Given the description of an element on the screen output the (x, y) to click on. 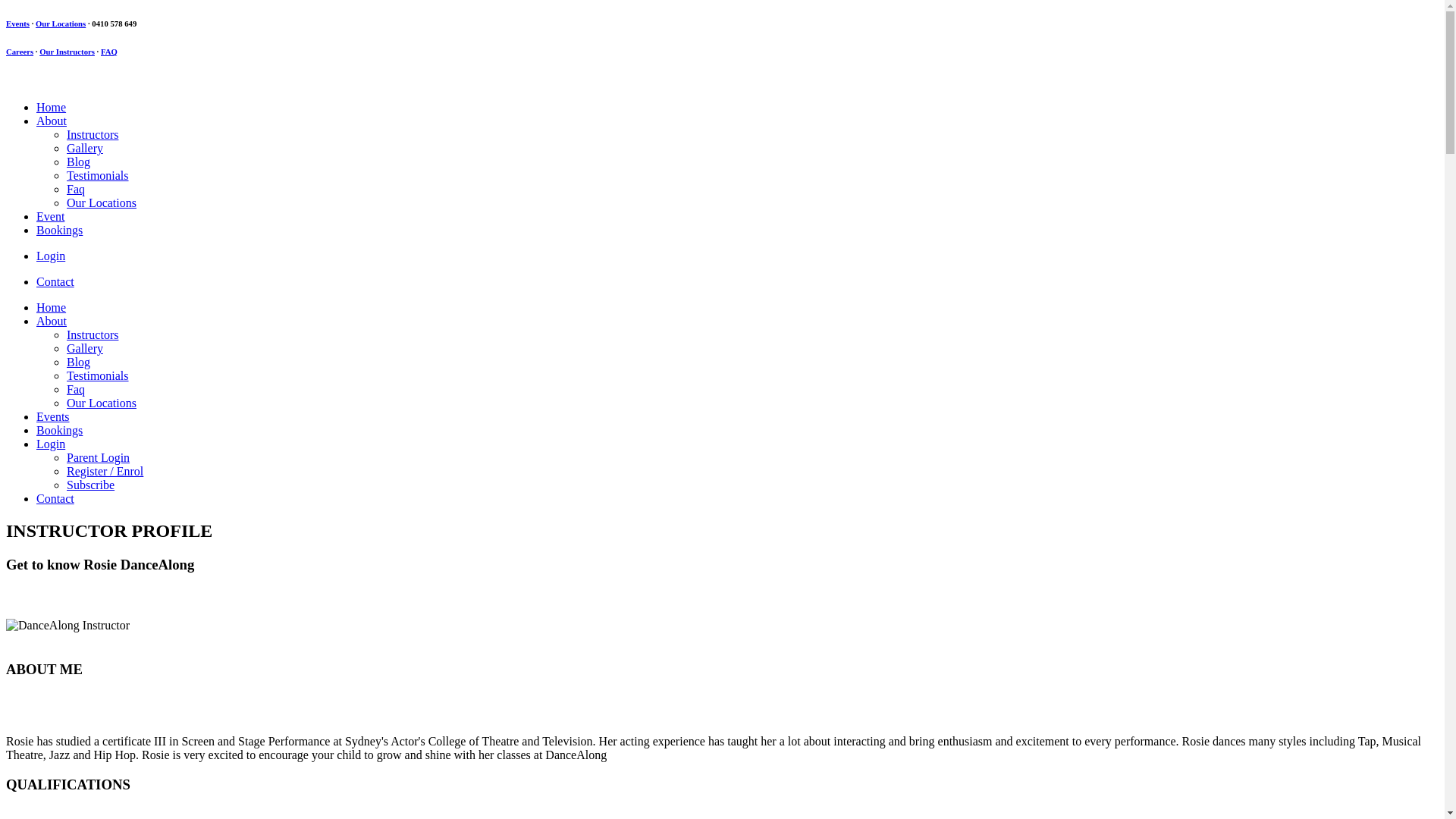
Home Element type: text (50, 106)
Home Element type: text (50, 307)
Faq Element type: text (75, 188)
Login Element type: text (50, 255)
Our Locations Element type: text (60, 23)
Our Locations Element type: text (101, 202)
Instructors Element type: text (92, 134)
Faq Element type: text (75, 388)
Blog Element type: text (78, 161)
Our Instructors Element type: text (66, 51)
Events Element type: text (52, 416)
Subscribe Element type: text (90, 484)
Register / Enrol Element type: text (104, 470)
Testimonials Element type: text (97, 175)
Blog Element type: text (78, 361)
Events Element type: text (17, 23)
Bookings Element type: text (59, 229)
Careers Element type: text (19, 51)
About Element type: text (51, 320)
FAQ Element type: text (108, 51)
Gallery Element type: text (84, 348)
About Element type: text (51, 120)
Contact Element type: text (55, 281)
Parent Login Element type: text (97, 457)
Testimonials Element type: text (97, 375)
Contact Element type: text (55, 498)
Bookings Element type: text (59, 429)
Event Element type: text (50, 216)
Instructors Element type: text (92, 334)
Login Element type: text (50, 443)
Our Locations Element type: text (101, 402)
Gallery Element type: text (84, 147)
